Given the description of an element on the screen output the (x, y) to click on. 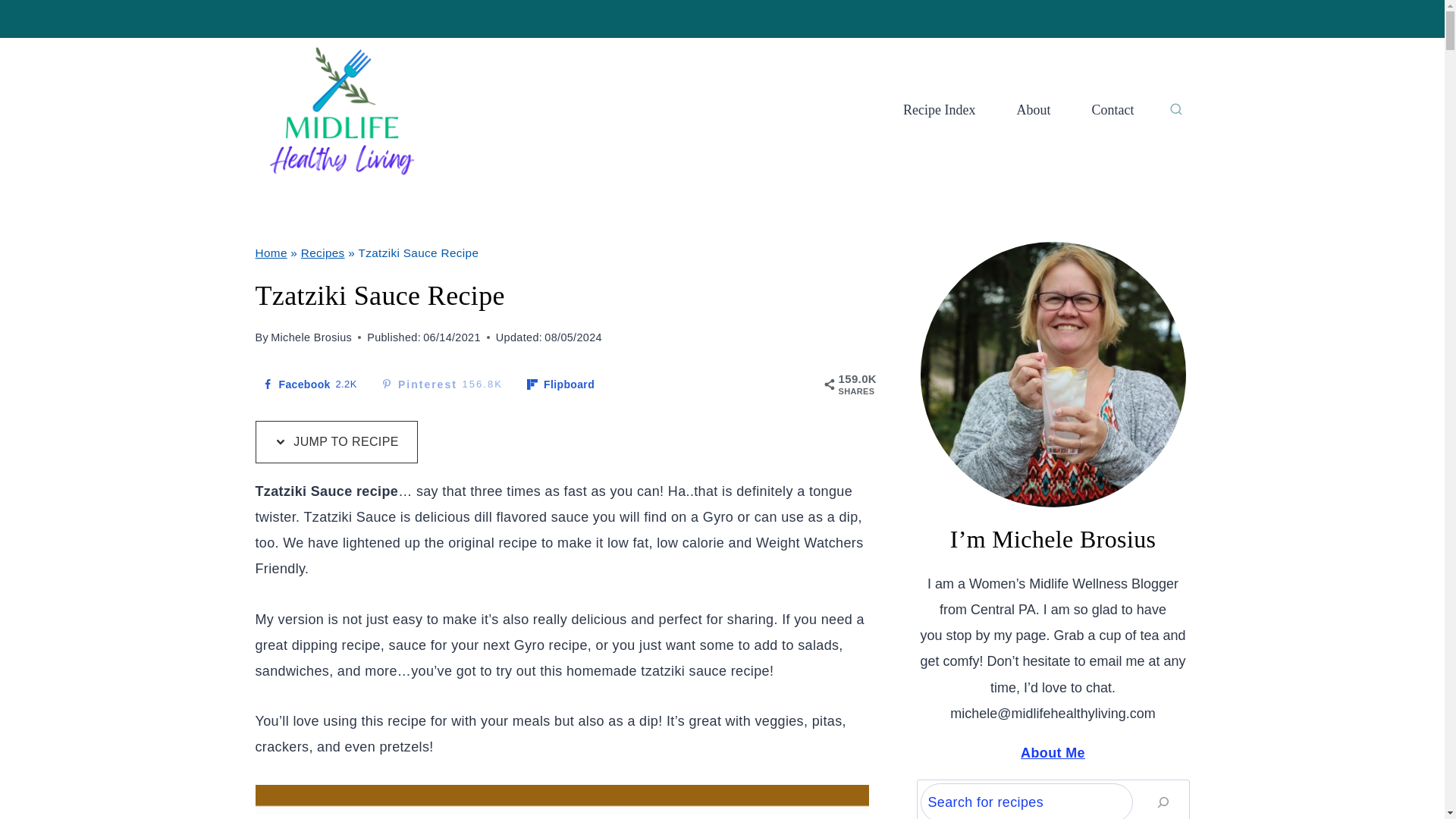
Share on Flipboard (441, 384)
Contact (308, 384)
JUMP TO RECIPE (560, 384)
Recipes (1112, 109)
Flipboard (335, 441)
About (323, 252)
Save to Pinterest (560, 384)
Recipe Index (1033, 109)
